Given the description of an element on the screen output the (x, y) to click on. 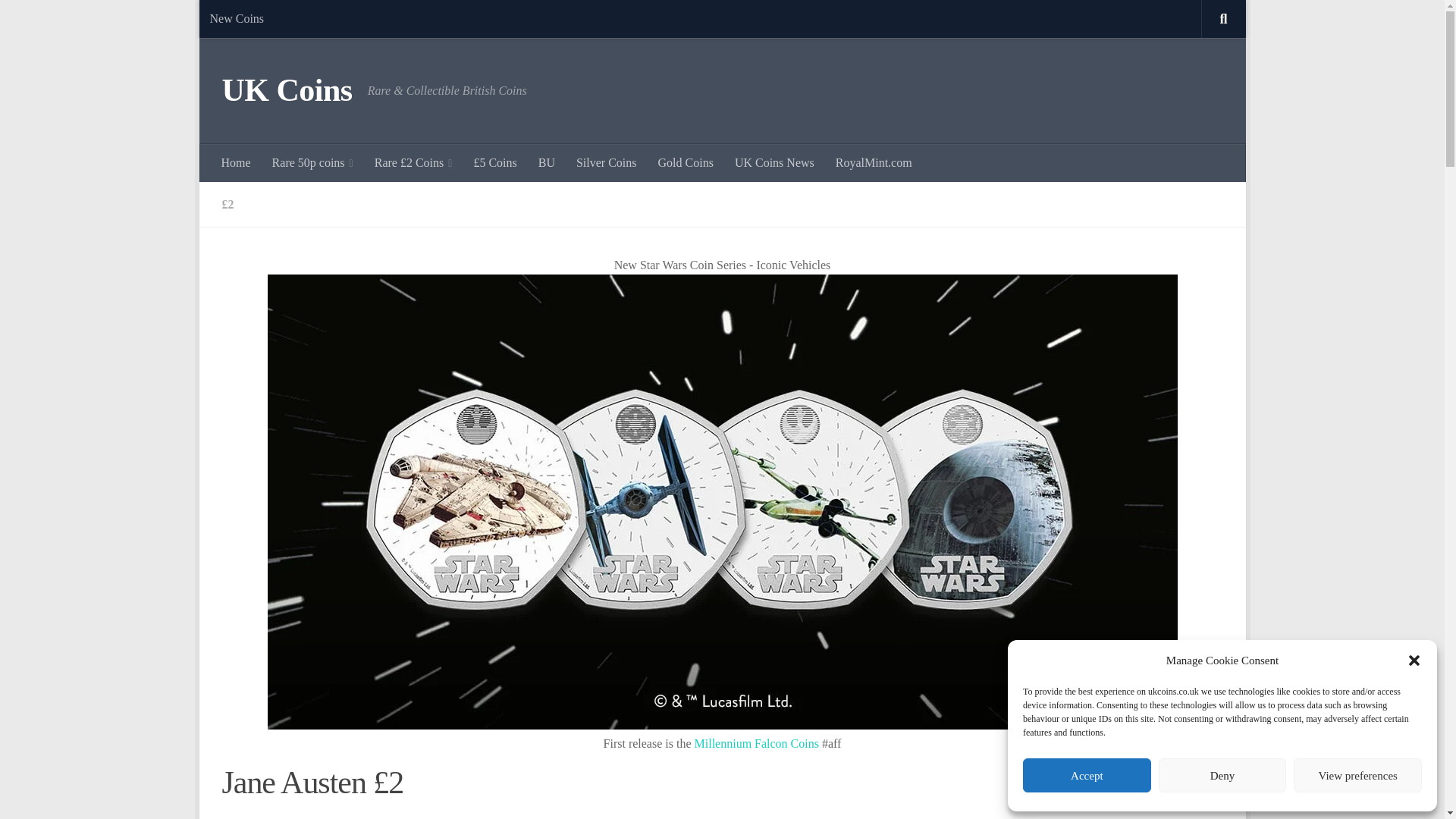
Home (236, 162)
New Coins (236, 18)
View preferences (1358, 775)
UK Coins (286, 90)
Skip to content (258, 20)
Rare 50p coins (313, 162)
Deny (1222, 775)
Accept (1087, 775)
